Given the description of an element on the screen output the (x, y) to click on. 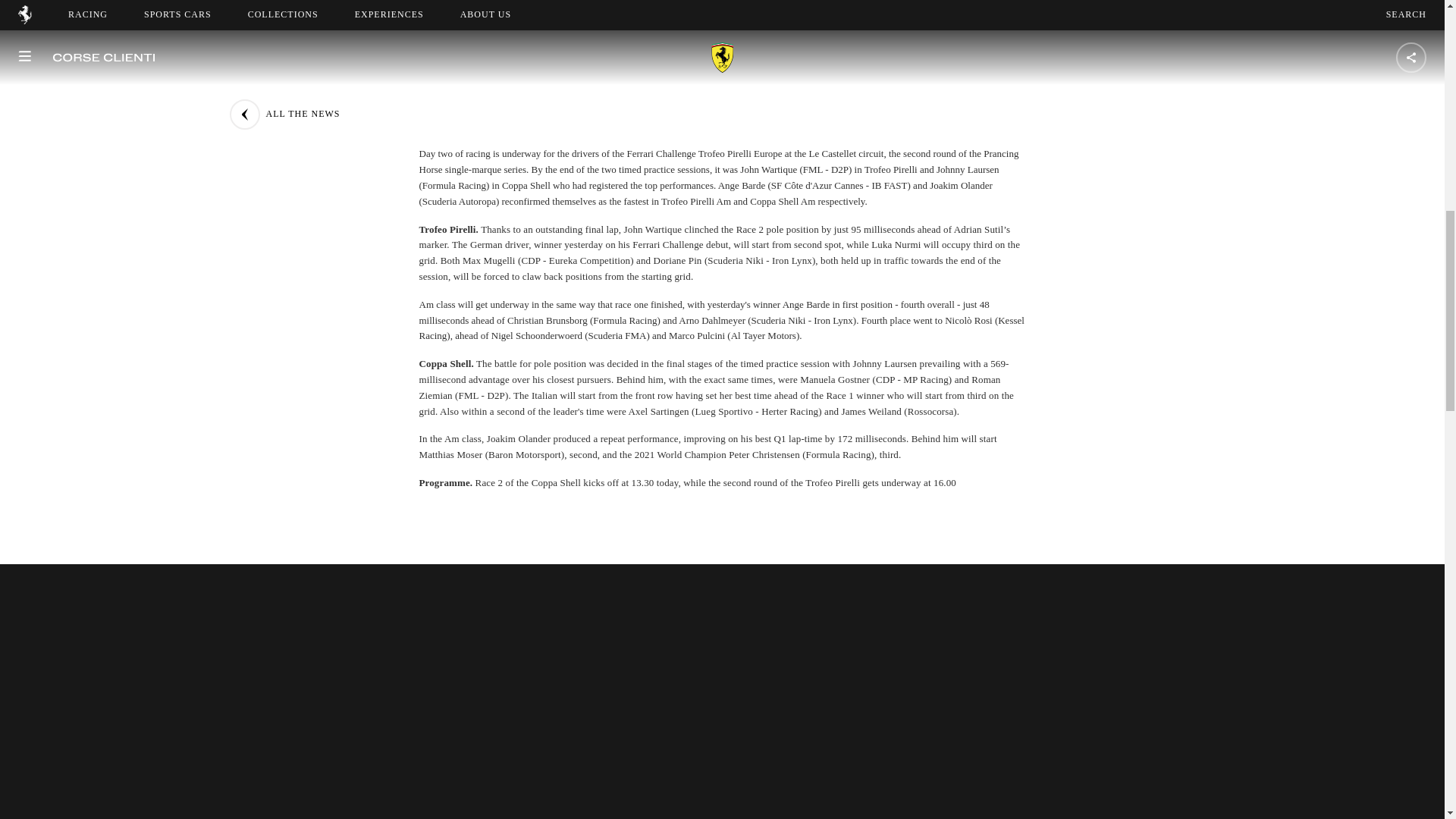
Wartique and Laursen fastest in Q2 at Paul Ricard (721, 18)
